Given the description of an element on the screen output the (x, y) to click on. 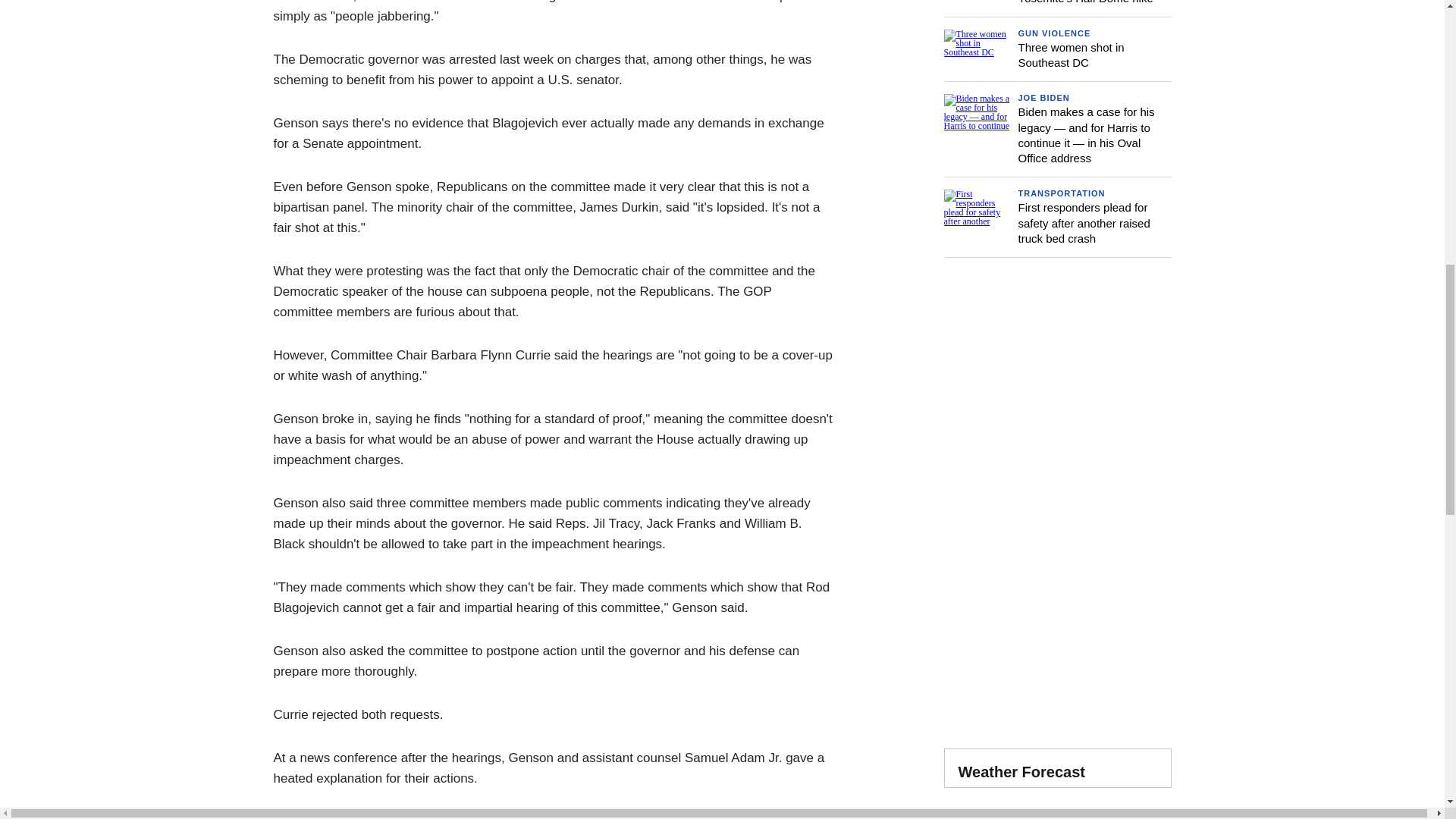
JOE BIDEN (1042, 97)
GUN VIOLENCE (1053, 32)
Three women shot in Southeast DC (1070, 54)
